Given the description of an element on the screen output the (x, y) to click on. 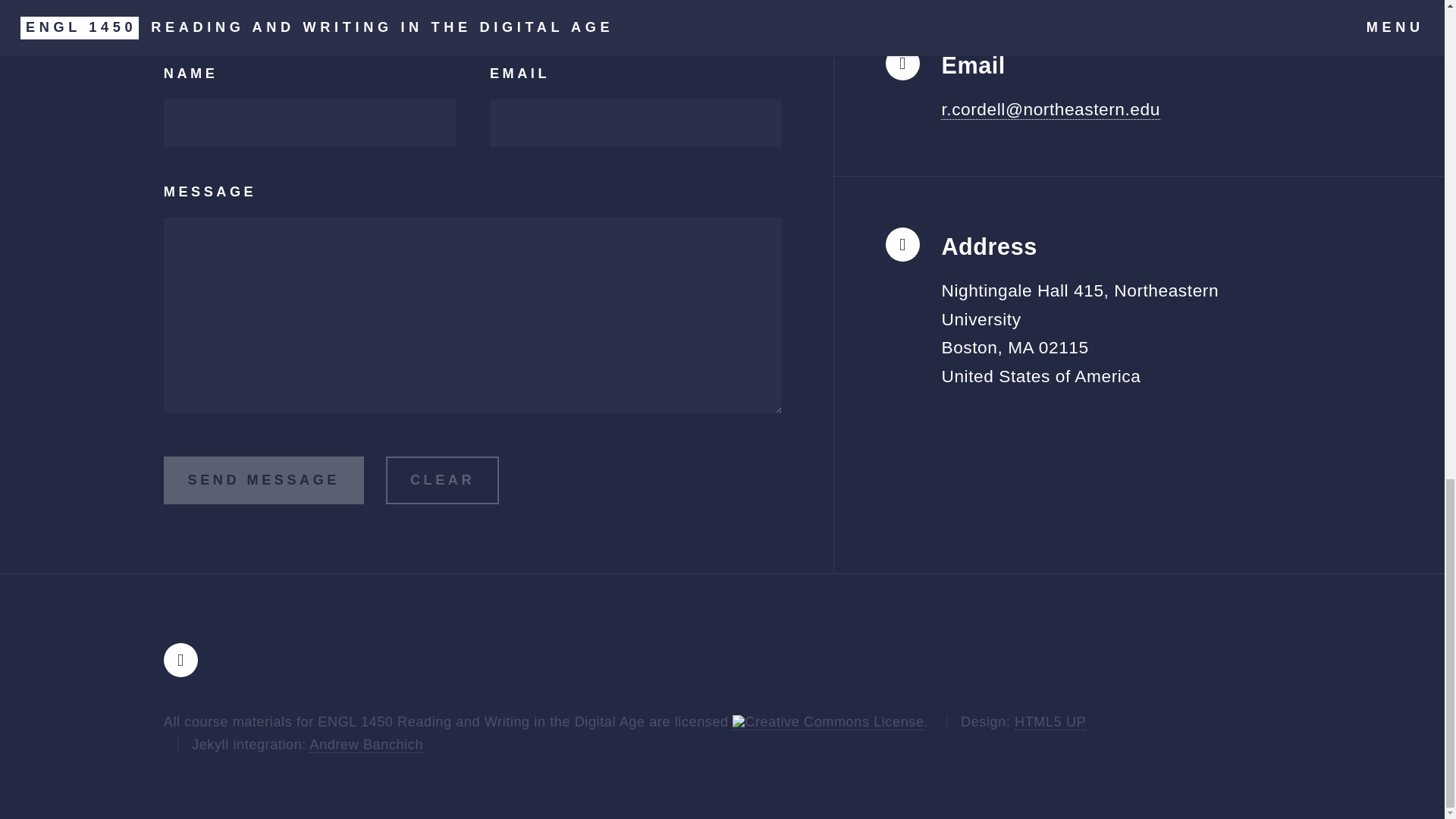
Andrew Banchich (365, 744)
Send Message (263, 480)
HTML5 UP (1050, 722)
Clear (442, 480)
Send Message (263, 480)
